Given the description of an element on the screen output the (x, y) to click on. 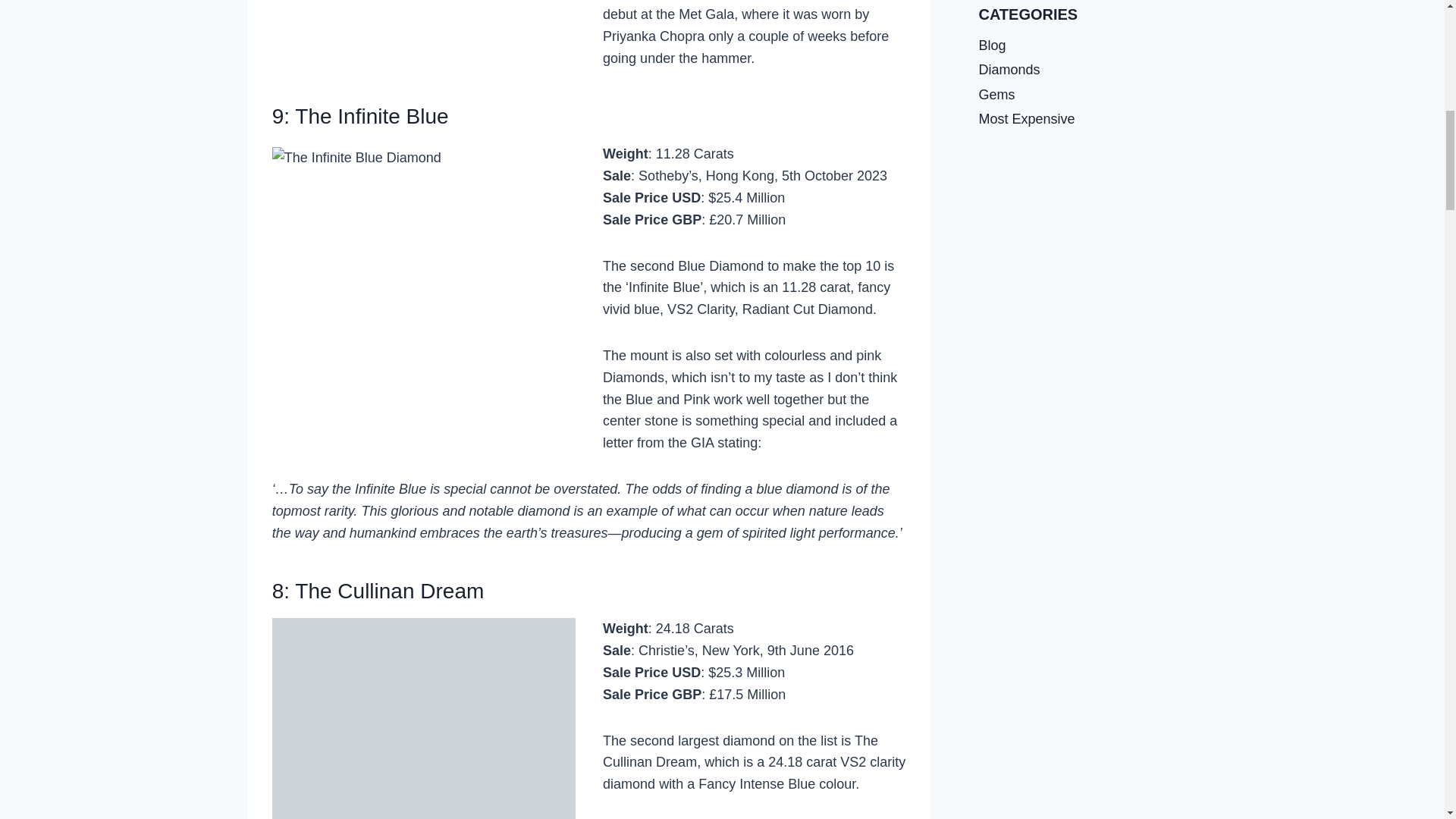
The Infinite Blue (371, 115)
The Cullinan Dream (389, 590)
